Given the description of an element on the screen output the (x, y) to click on. 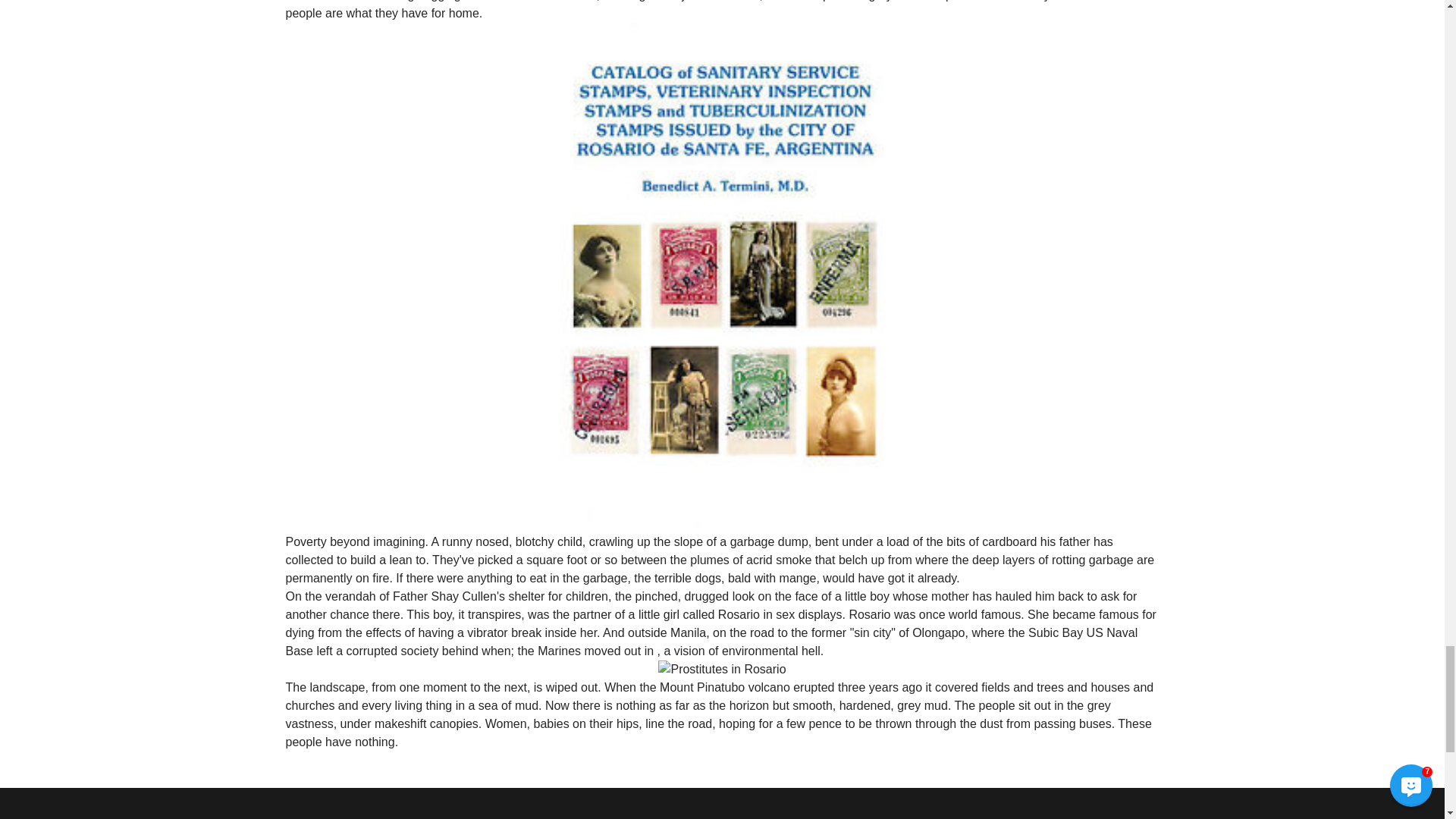
SEX AGENCY in Rosario (722, 669)
